Given the description of an element on the screen output the (x, y) to click on. 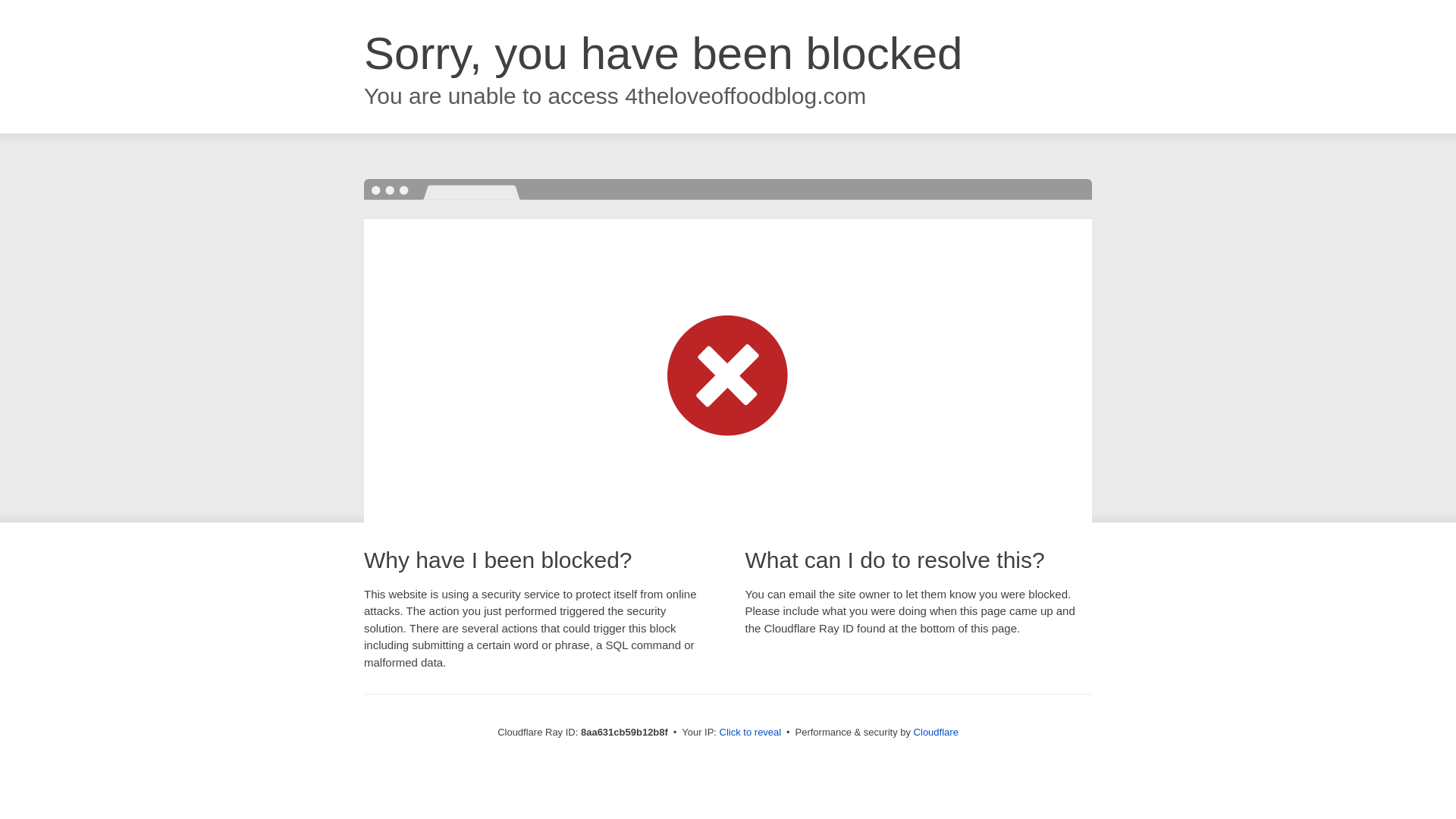
Cloudflare (936, 731)
Click to reveal (750, 732)
